Given the description of an element on the screen output the (x, y) to click on. 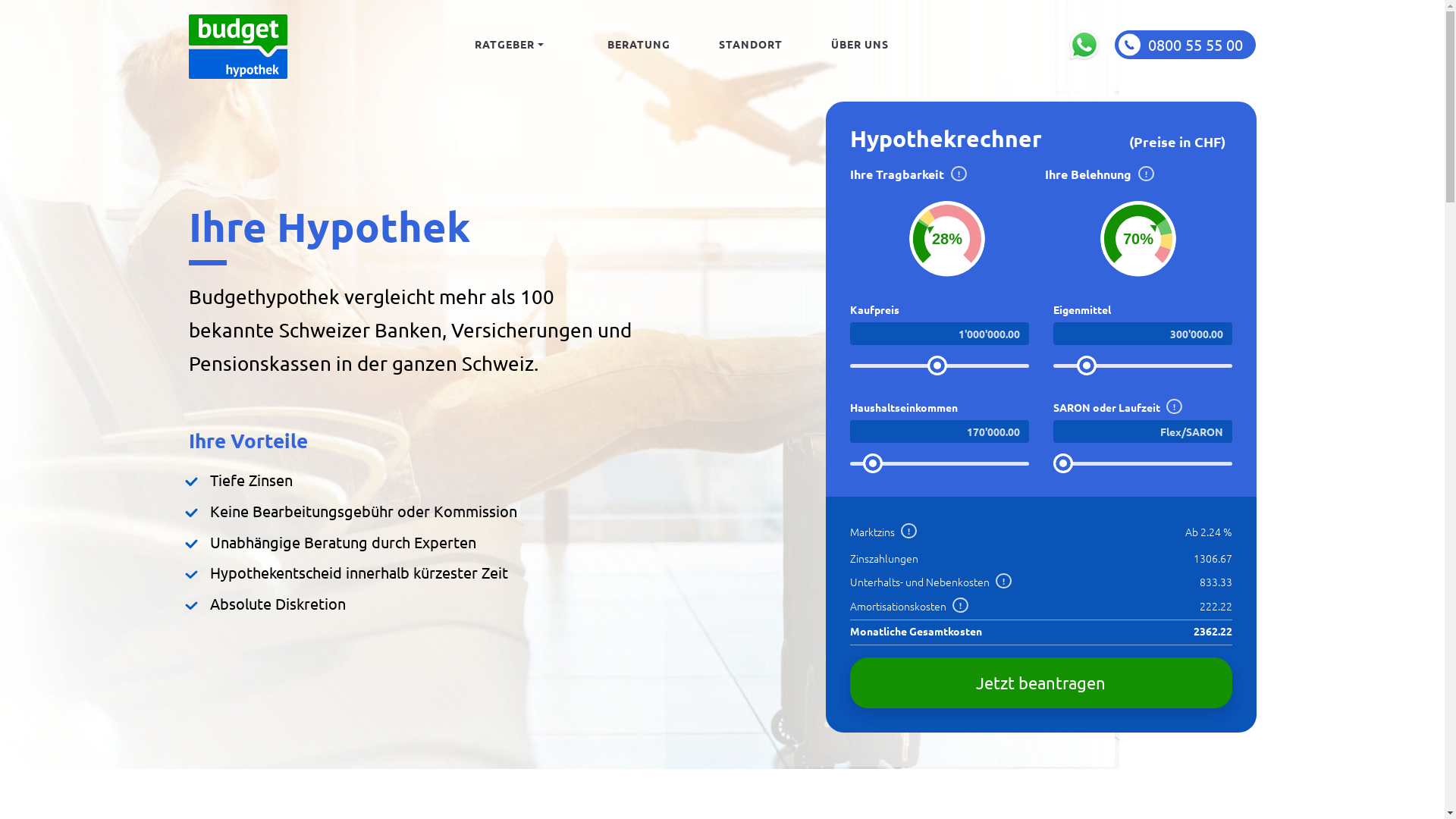
0800 55 55 00 Element type: text (1184, 44)
STANDORT Element type: text (750, 44)
BERATUNG Element type: text (638, 44)
Jetzt beantragen Element type: text (1040, 682)
RATGEBER Element type: text (508, 44)
